Given the description of an element on the screen output the (x, y) to click on. 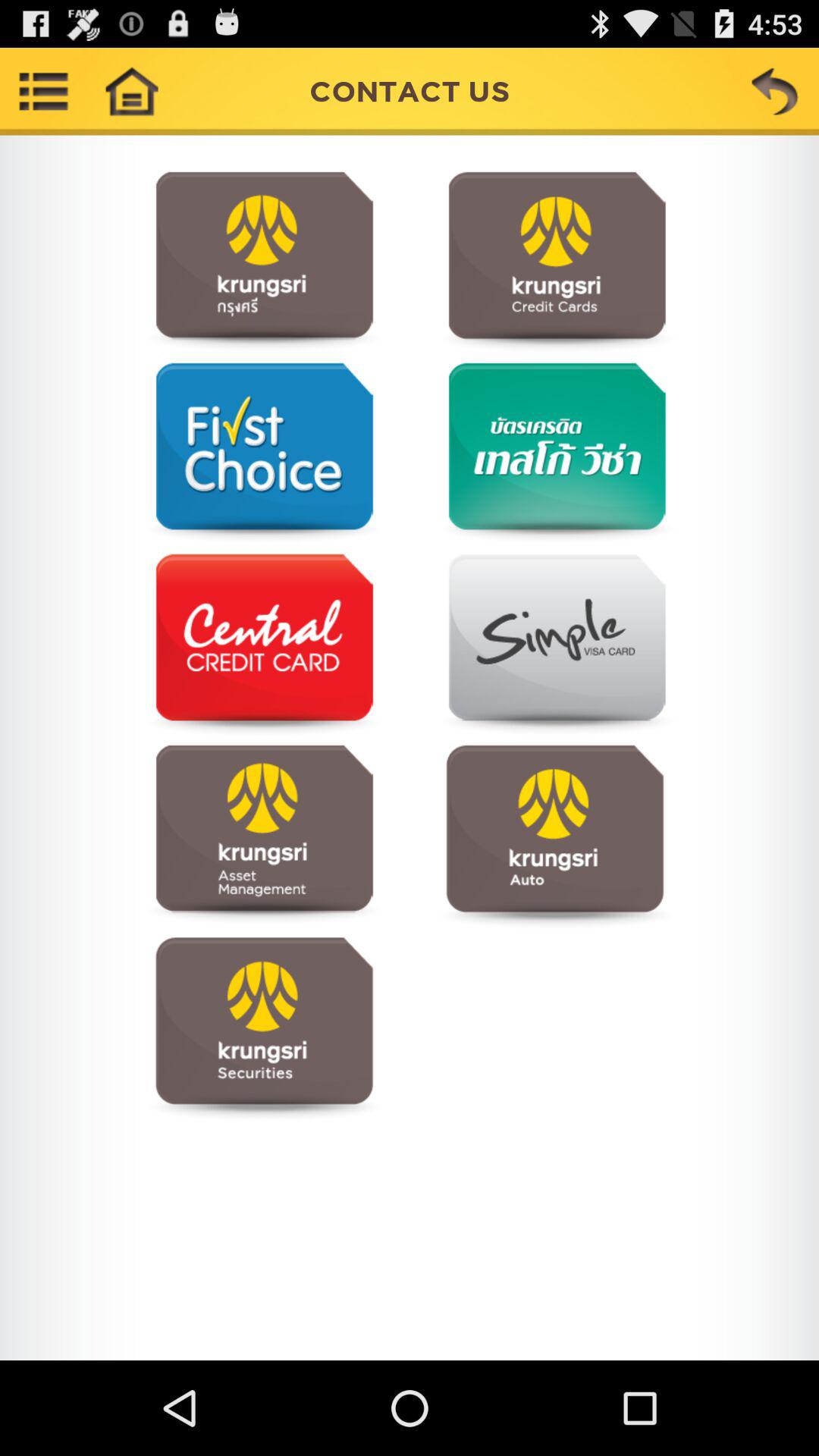
tap the item below contact us app (554, 262)
